Given the description of an element on the screen output the (x, y) to click on. 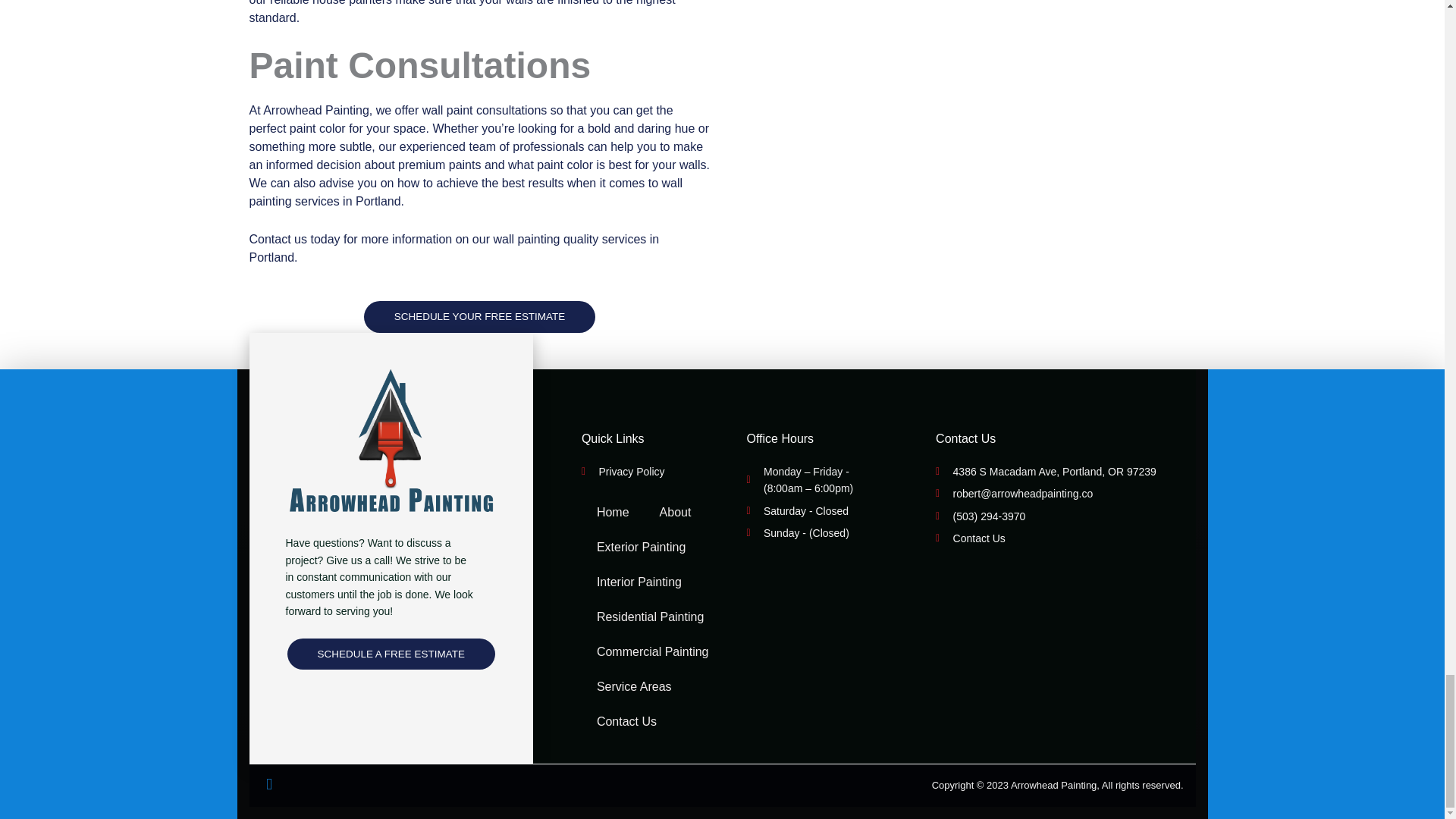
jacket (390, 444)
